Given the description of an element on the screen output the (x, y) to click on. 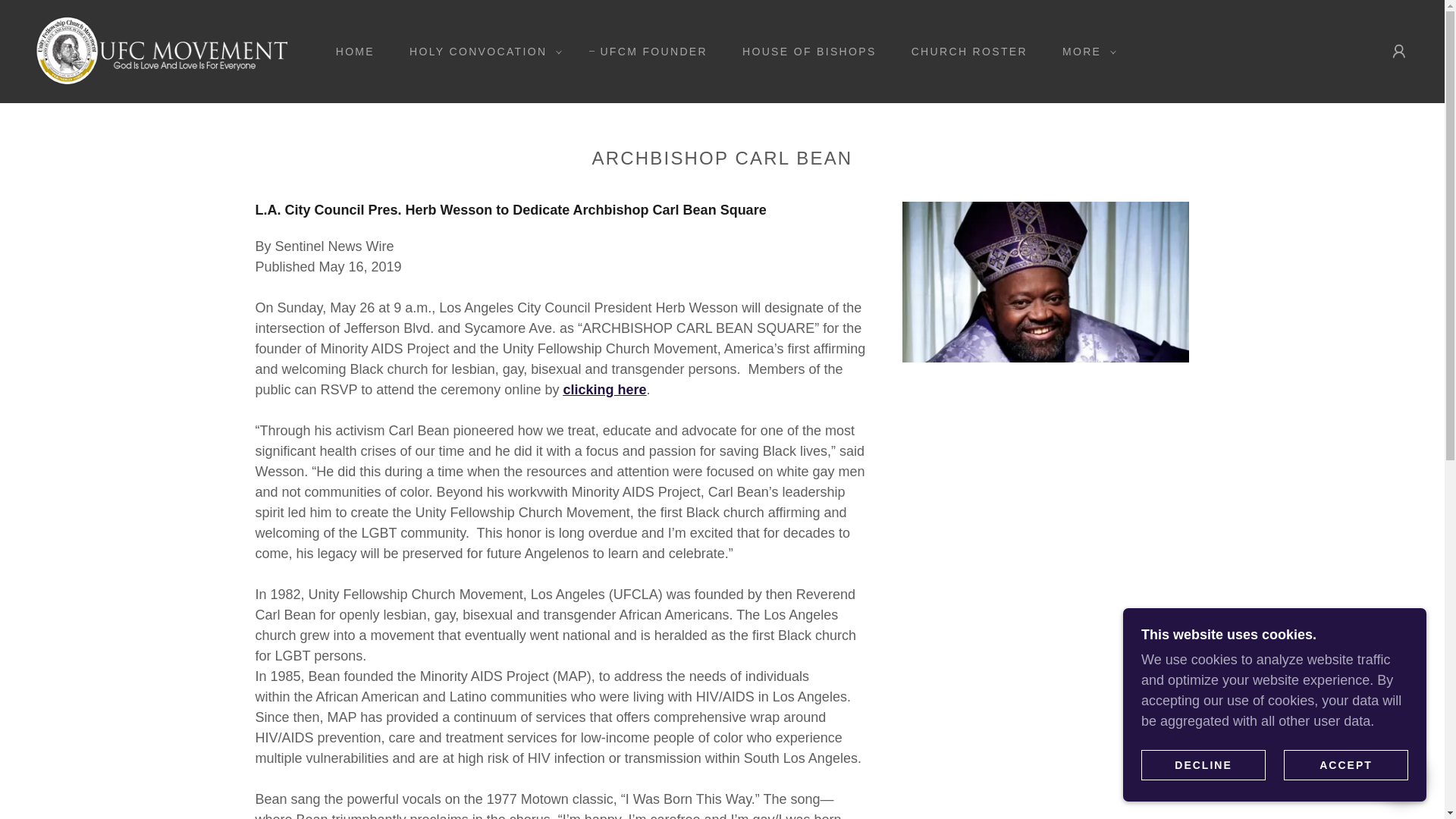
HOME (349, 51)
UFCM FOUNDER (648, 51)
CHURCH ROSTER (964, 51)
HOLY CONVOCATION (481, 51)
MORE (1085, 51)
HOUSE OF BISHOPS (803, 51)
UFC Movement (159, 50)
